Given the description of an element on the screen output the (x, y) to click on. 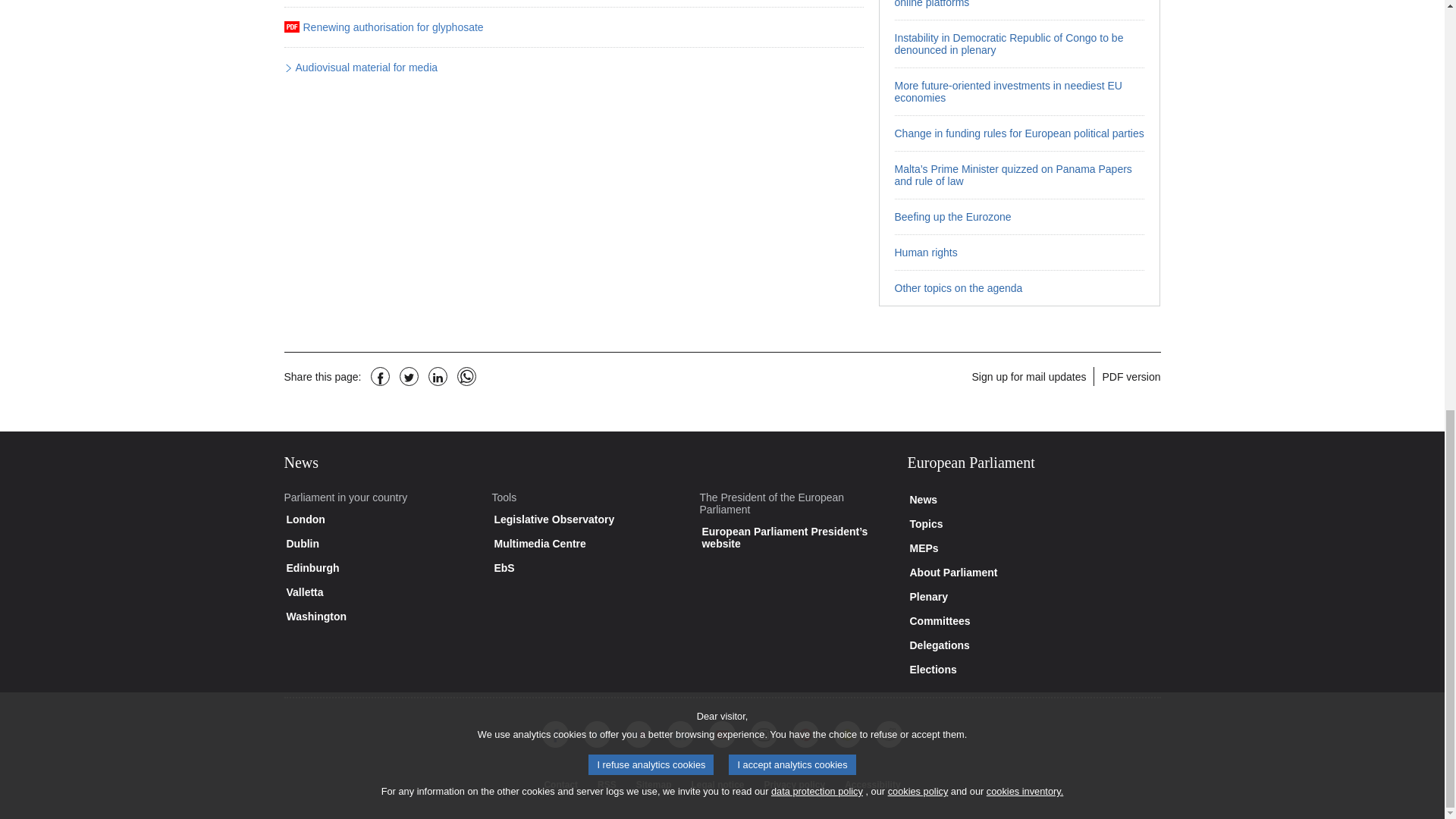
Read the PDF document (390, 28)
Go to the page (1019, 9)
Open in a new page (364, 68)
Go to the page (1019, 91)
Go to the page (1019, 43)
Go to the page (1019, 132)
Go to the page (1019, 174)
